Given the description of an element on the screen output the (x, y) to click on. 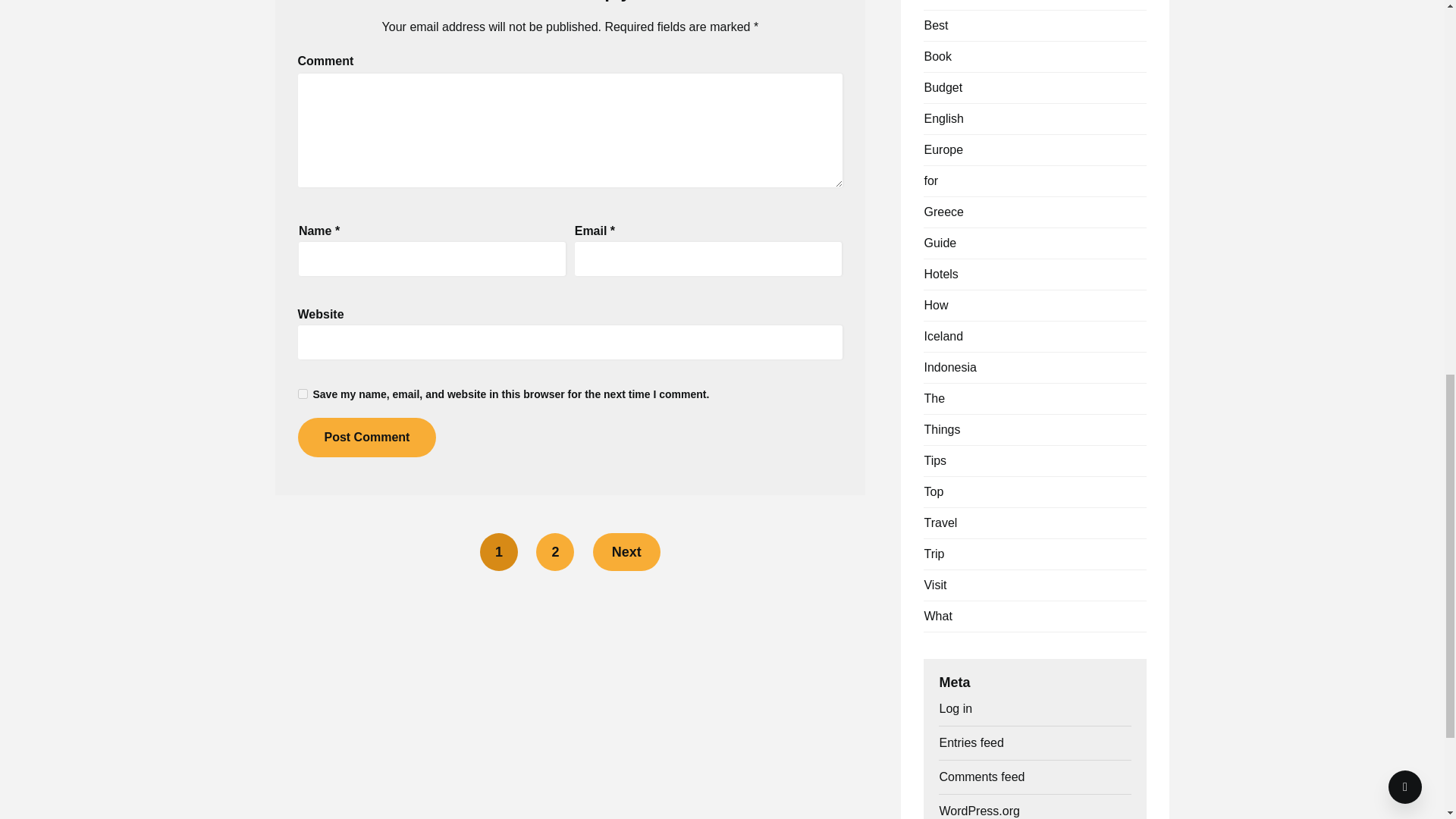
2 (554, 551)
yes (302, 393)
Indonesia (949, 367)
Europe (942, 149)
Greece (942, 211)
How (935, 305)
Next (626, 551)
Post Comment (366, 437)
Book (936, 56)
Best (935, 24)
Guide (939, 242)
for (930, 180)
Hotels (940, 273)
English (942, 118)
